Given the description of an element on the screen output the (x, y) to click on. 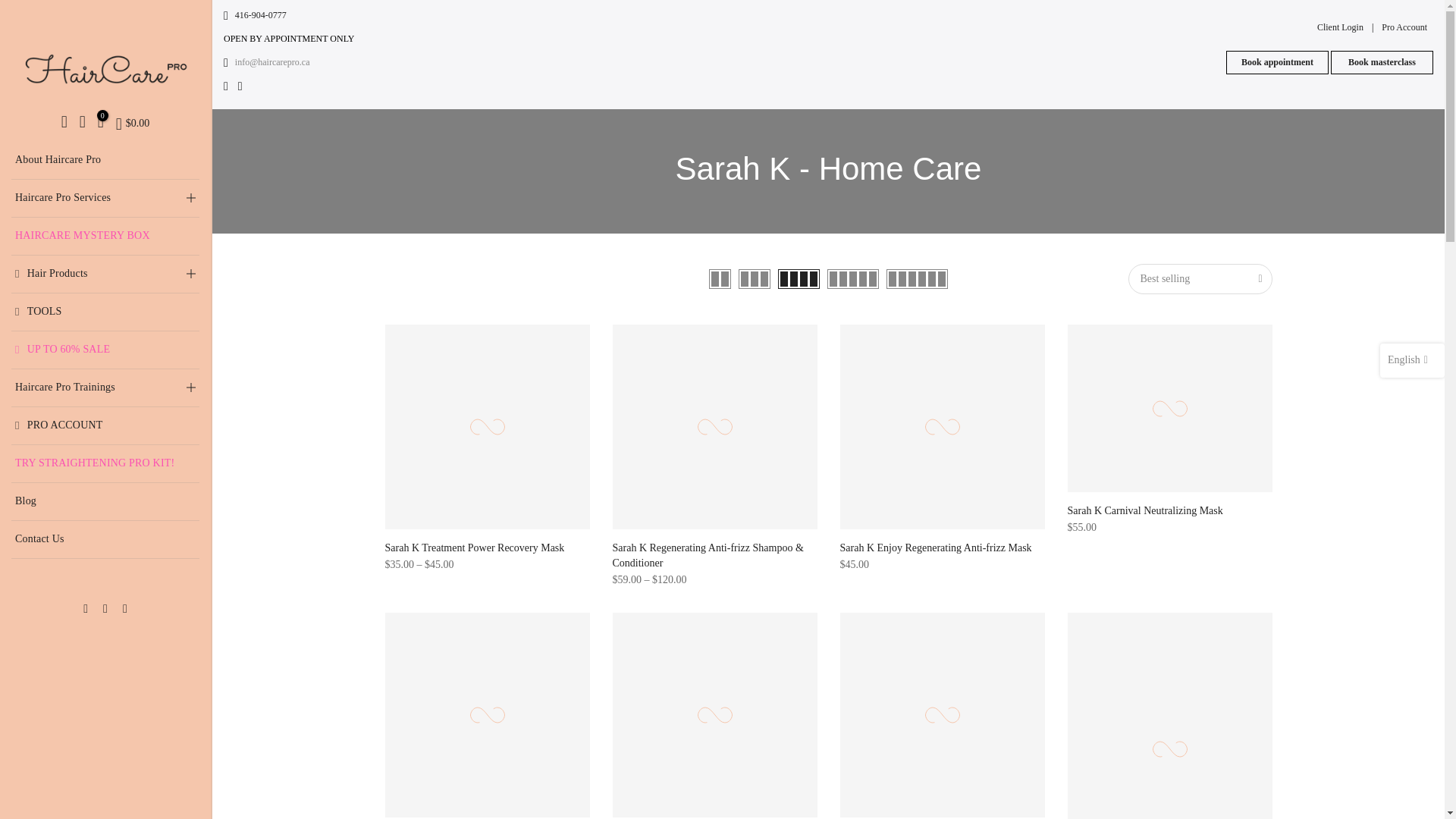
Book masterclass (1381, 62)
0 (100, 123)
Haircare Pro Services (105, 198)
Client Login (1340, 26)
Pro Account (1403, 26)
416-904-0777 (260, 14)
Hair Products (105, 274)
HAIRCARE MYSTERY BOX (105, 236)
About Haircare Pro (105, 160)
Book appointment (1276, 62)
